Given the description of an element on the screen output the (x, y) to click on. 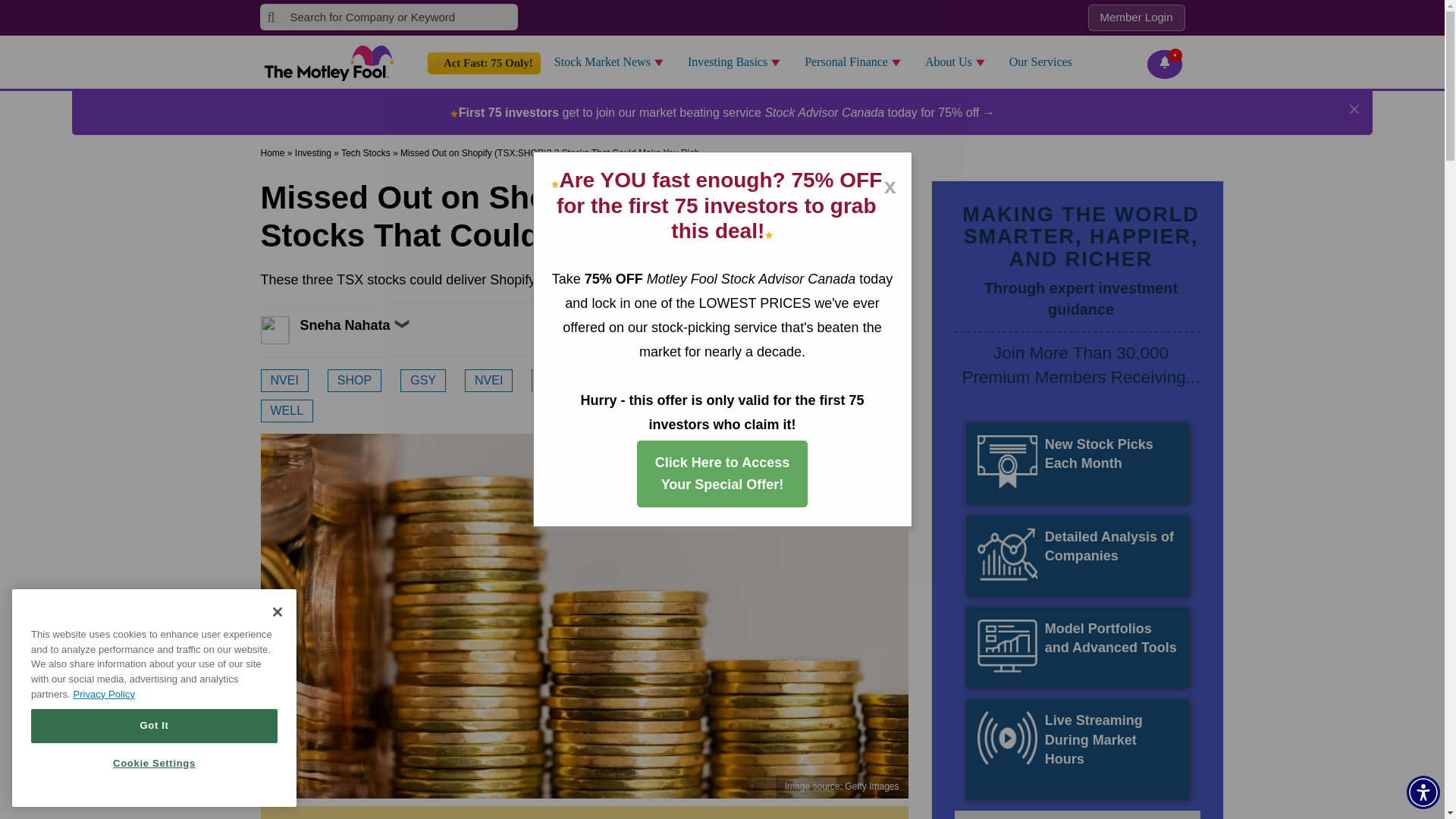
Investing Basics (738, 62)
Stock Market News (613, 62)
Accessibility Menu (1422, 792)
Share on Facebook (857, 340)
See more articles about WELL (287, 410)
Act Fast: 75 Only! (484, 63)
Share by email (900, 340)
See more articles about GSY (422, 380)
Sneha Nahata (290, 329)
See more articles about NVEI (284, 380)
Share on Twitter (878, 340)
See more articles about NVEI (488, 380)
See more articles about SHOP (354, 380)
Member Login (1136, 17)
See more articles about SHOP (558, 380)
